Given the description of an element on the screen output the (x, y) to click on. 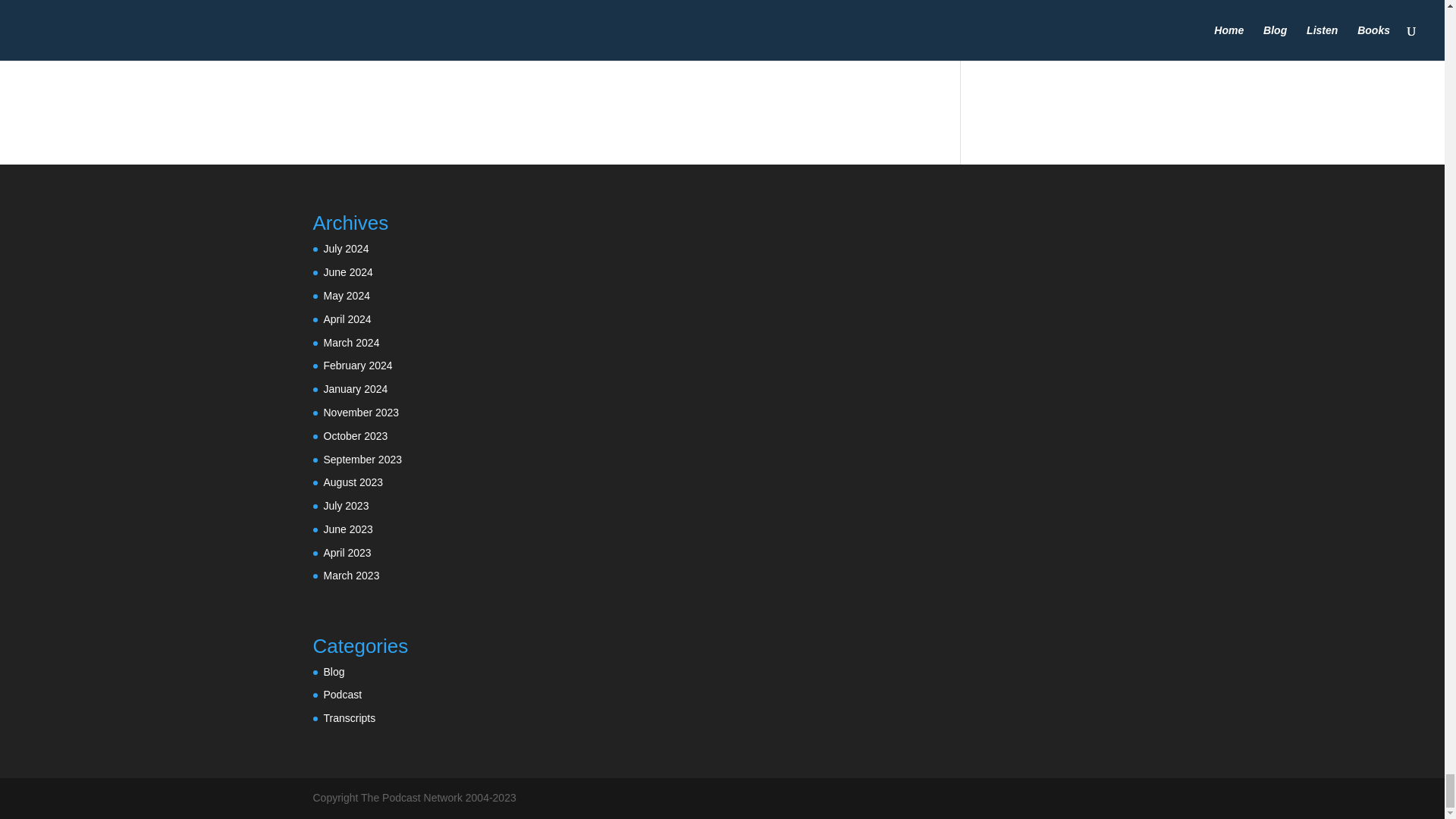
Submit Comment (840, 17)
May 2024 (346, 295)
Submit Comment (840, 17)
April 2024 (347, 318)
June 2024 (347, 272)
March 2024 (350, 342)
February 2024 (357, 365)
November 2023 (360, 412)
July 2024 (345, 248)
January 2024 (355, 388)
